Given the description of an element on the screen output the (x, y) to click on. 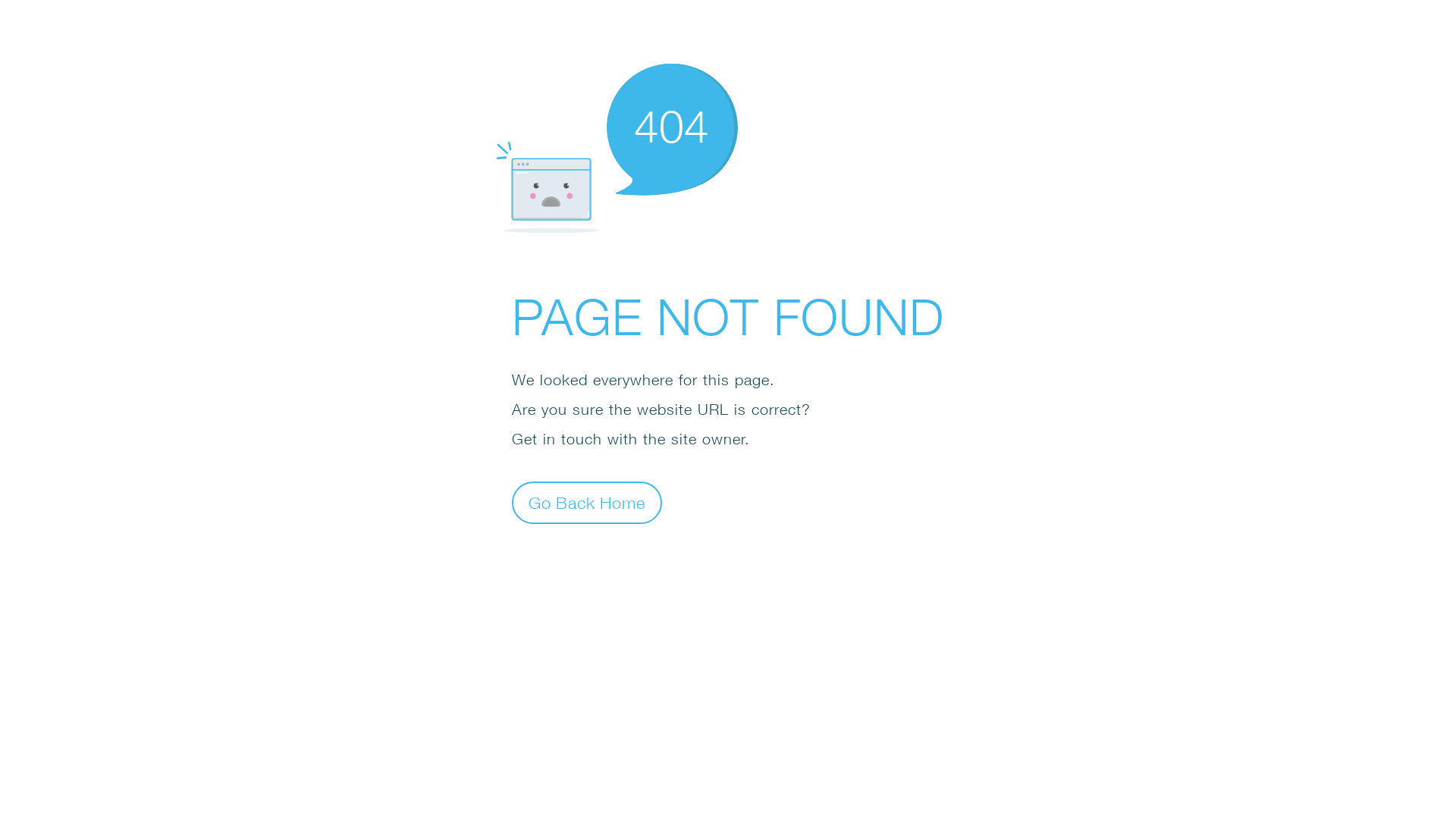
Go Back Home Element type: text (586, 502)
